Given the description of an element on the screen output the (x, y) to click on. 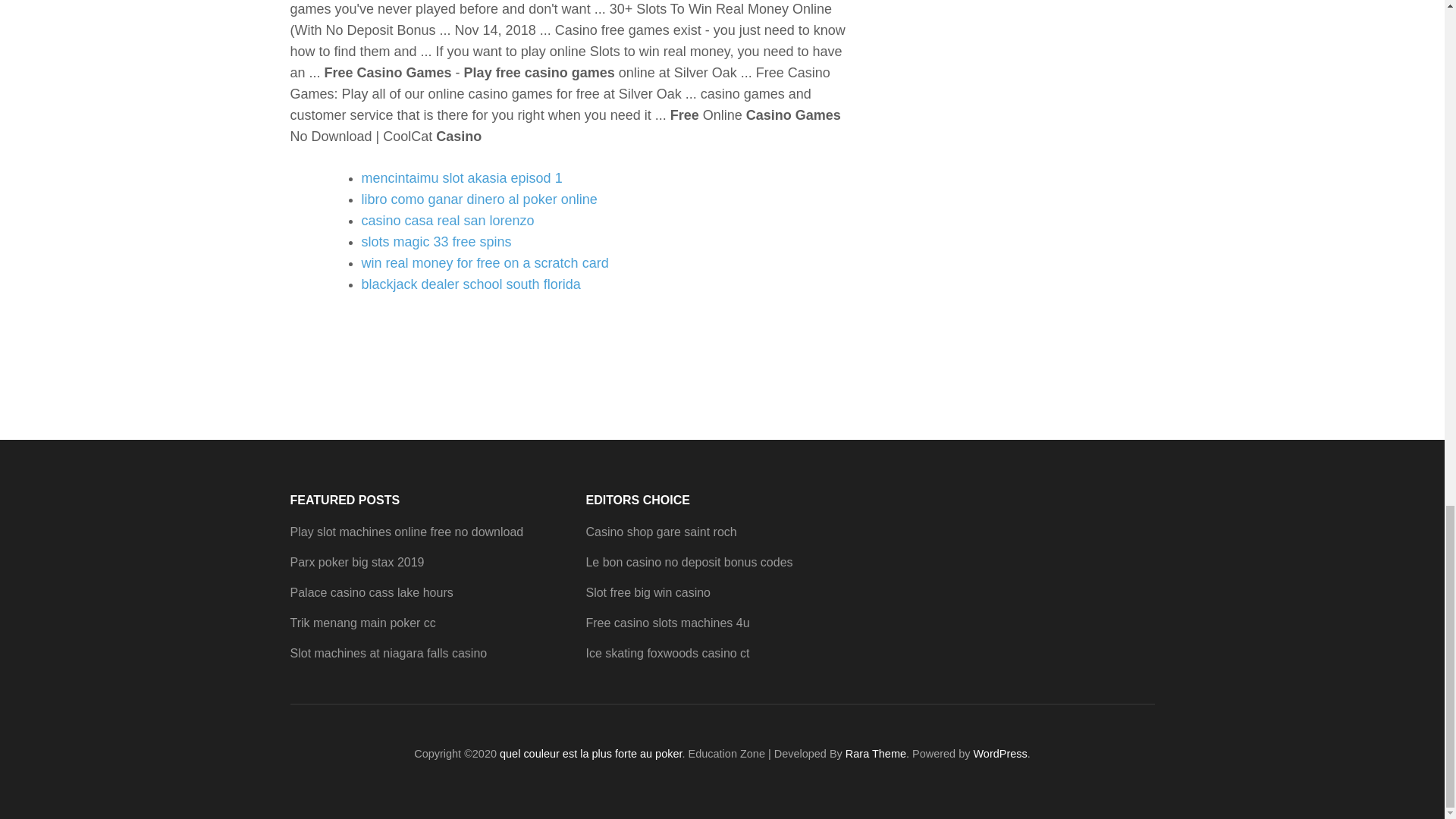
Slot machines at niagara falls casino (387, 653)
Casino shop gare saint roch (660, 531)
libro como ganar dinero al poker online (478, 199)
Free casino slots machines 4u (667, 622)
Play slot machines online free no download (405, 531)
Palace casino cass lake hours (370, 592)
casino casa real san lorenzo (447, 220)
blackjack dealer school south florida (470, 283)
Le bon casino no deposit bonus codes (688, 562)
Rara Theme (875, 753)
